Given the description of an element on the screen output the (x, y) to click on. 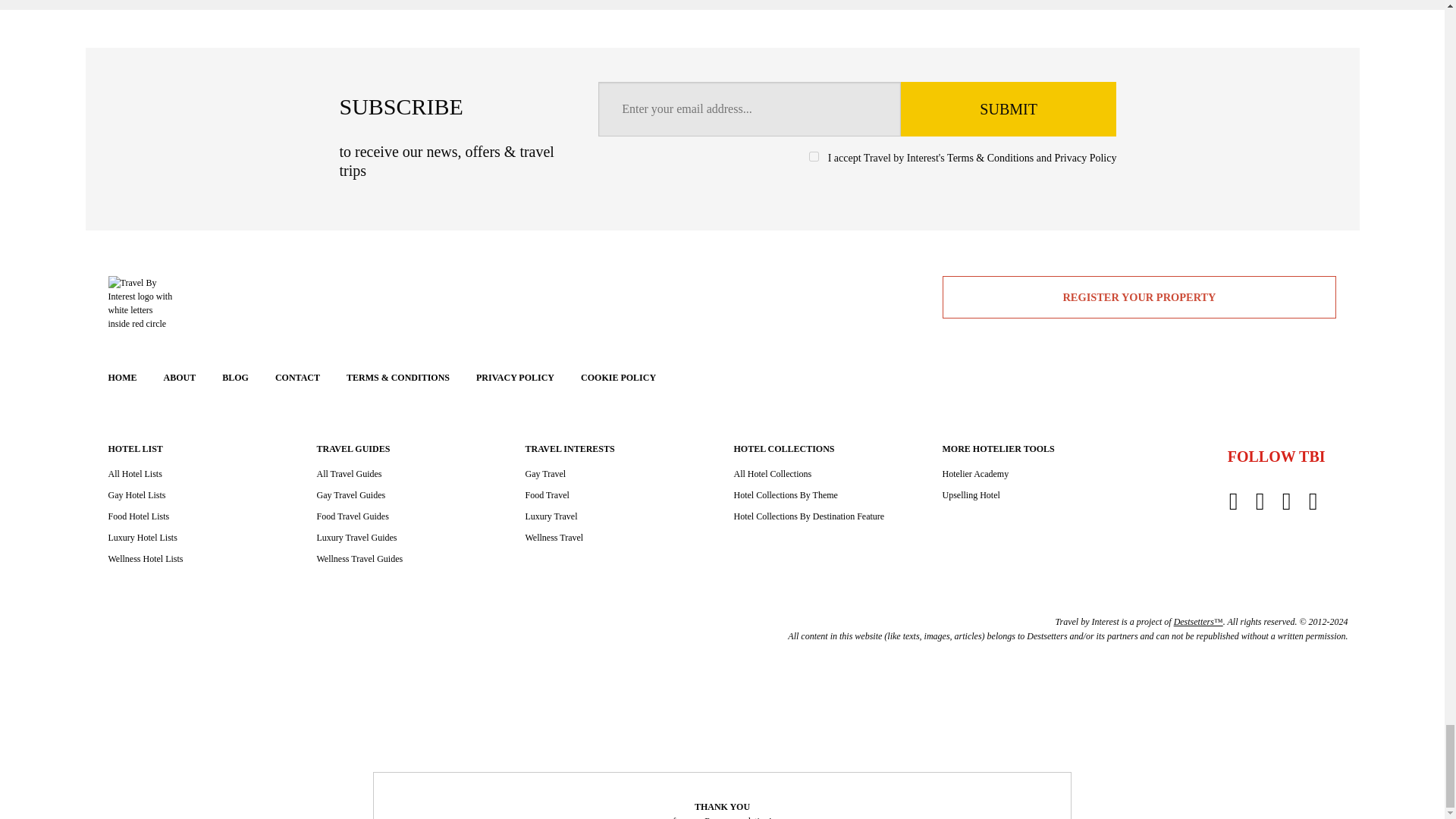
1 (813, 156)
